Given the description of an element on the screen output the (x, y) to click on. 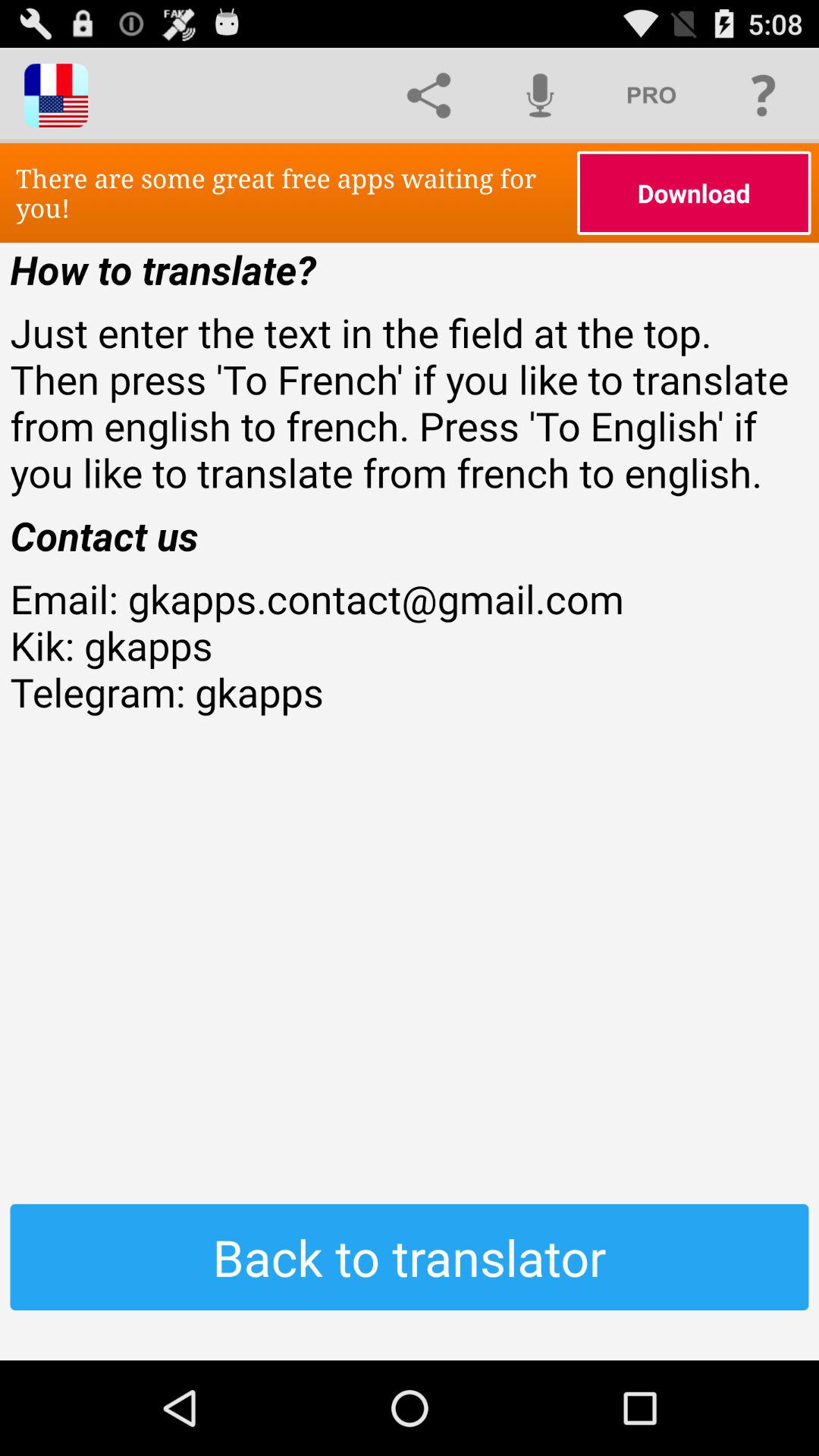
click icon below how to translate? icon (409, 401)
